Given the description of an element on the screen output the (x, y) to click on. 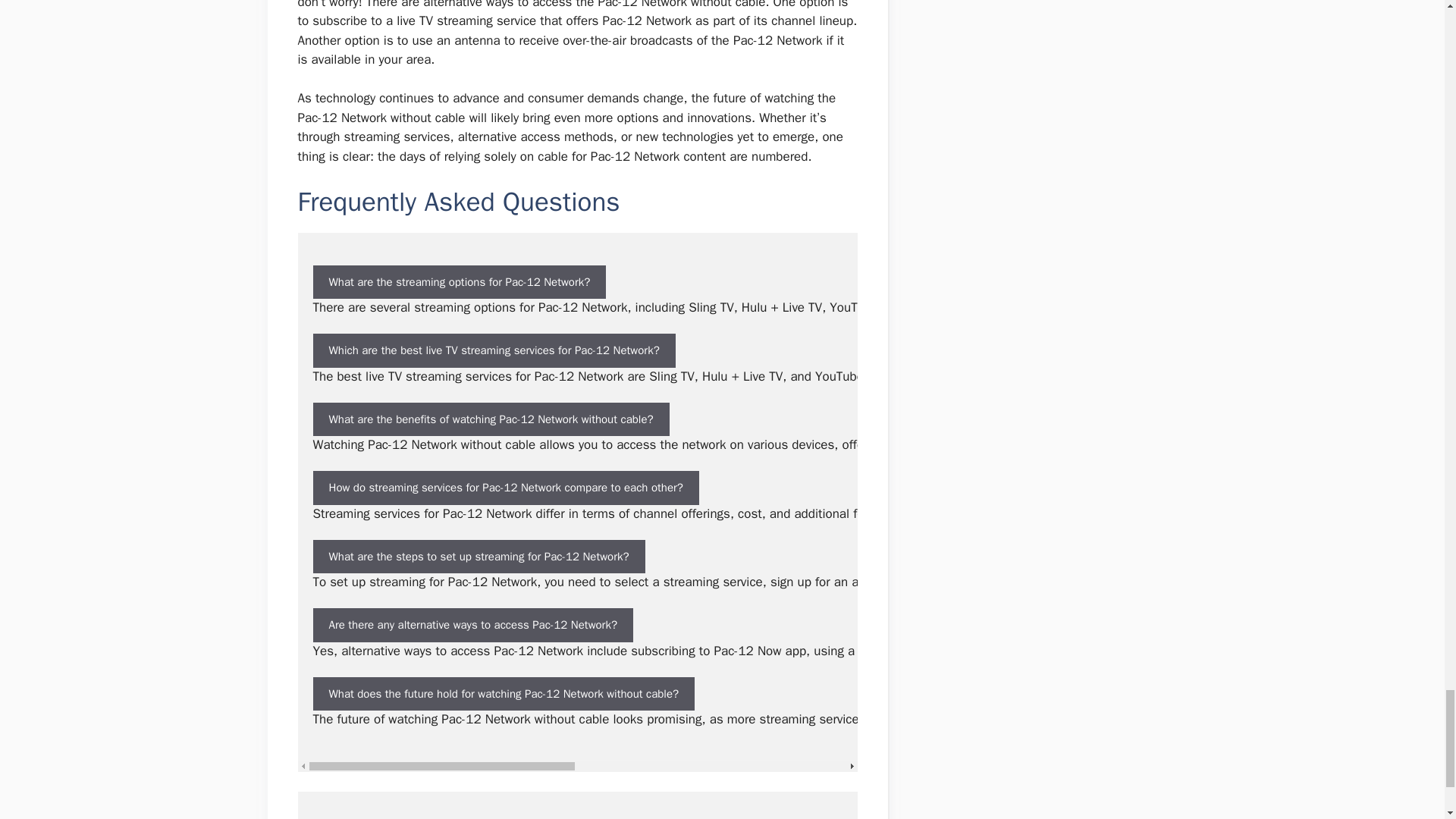
What are the steps to set up streaming for Pac-12 Network? (479, 556)
What are the streaming options for Pac-12 Network? (459, 282)
Are there any alternative ways to access Pac-12 Network? (472, 625)
